Given the description of an element on the screen output the (x, y) to click on. 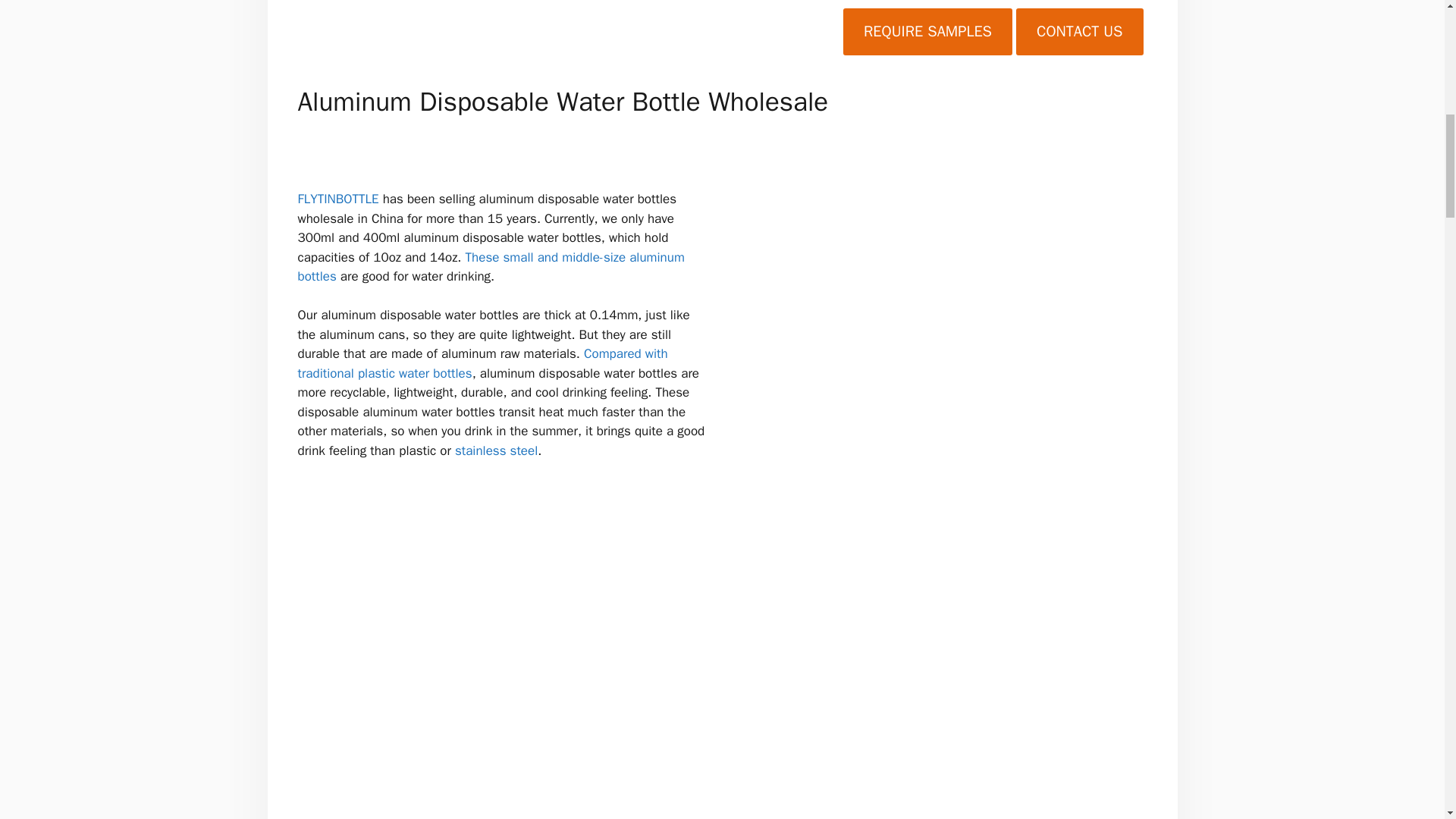
FLYTINBOTTLE (337, 198)
